Given the description of an element on the screen output the (x, y) to click on. 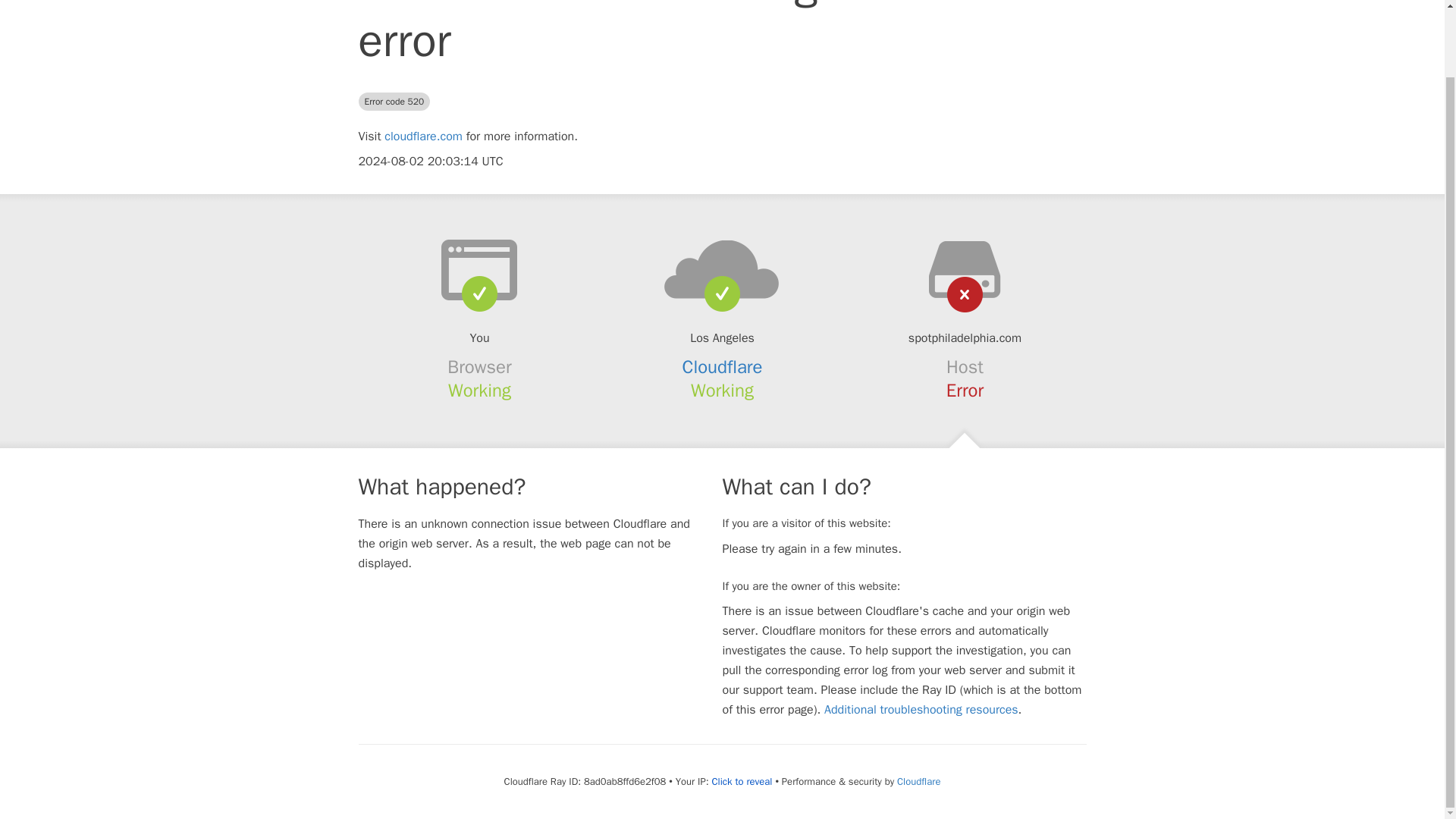
Cloudflare (918, 780)
Click to reveal (741, 781)
cloudflare.com (423, 136)
Additional troubleshooting resources (920, 709)
Cloudflare (722, 366)
